Given the description of an element on the screen output the (x, y) to click on. 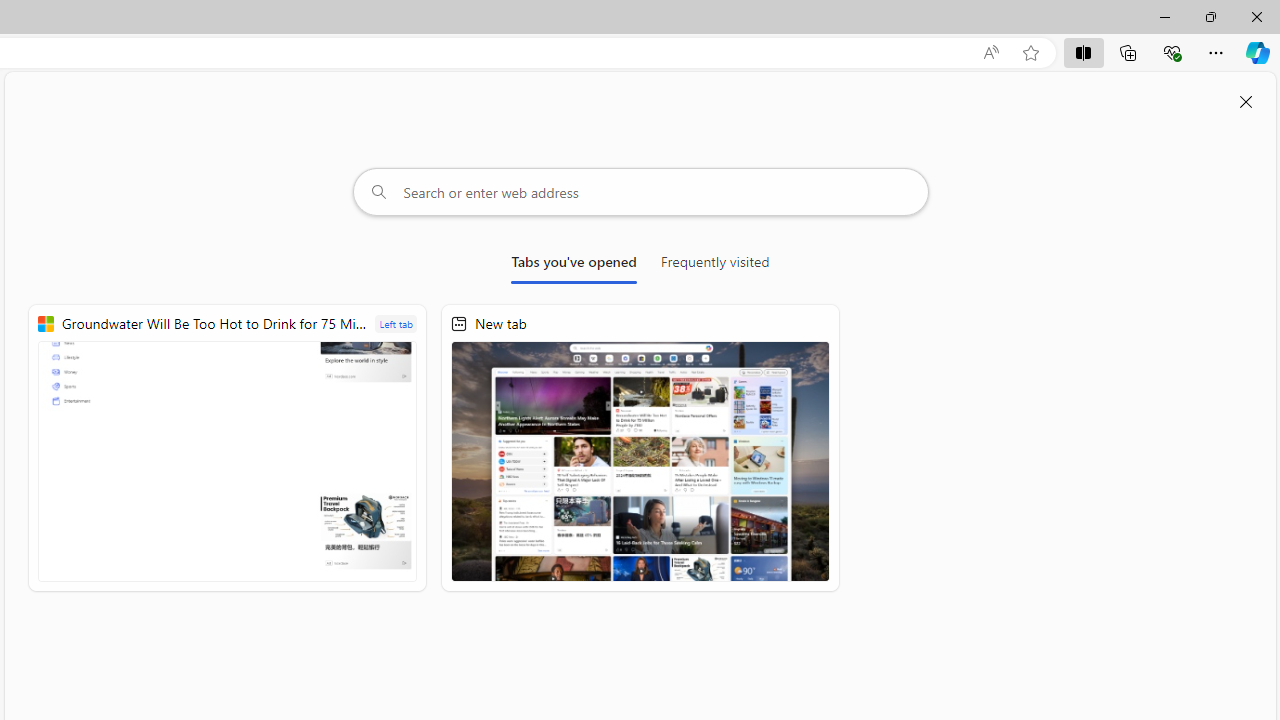
Frequently visited (715, 265)
